Given the description of an element on the screen output the (x, y) to click on. 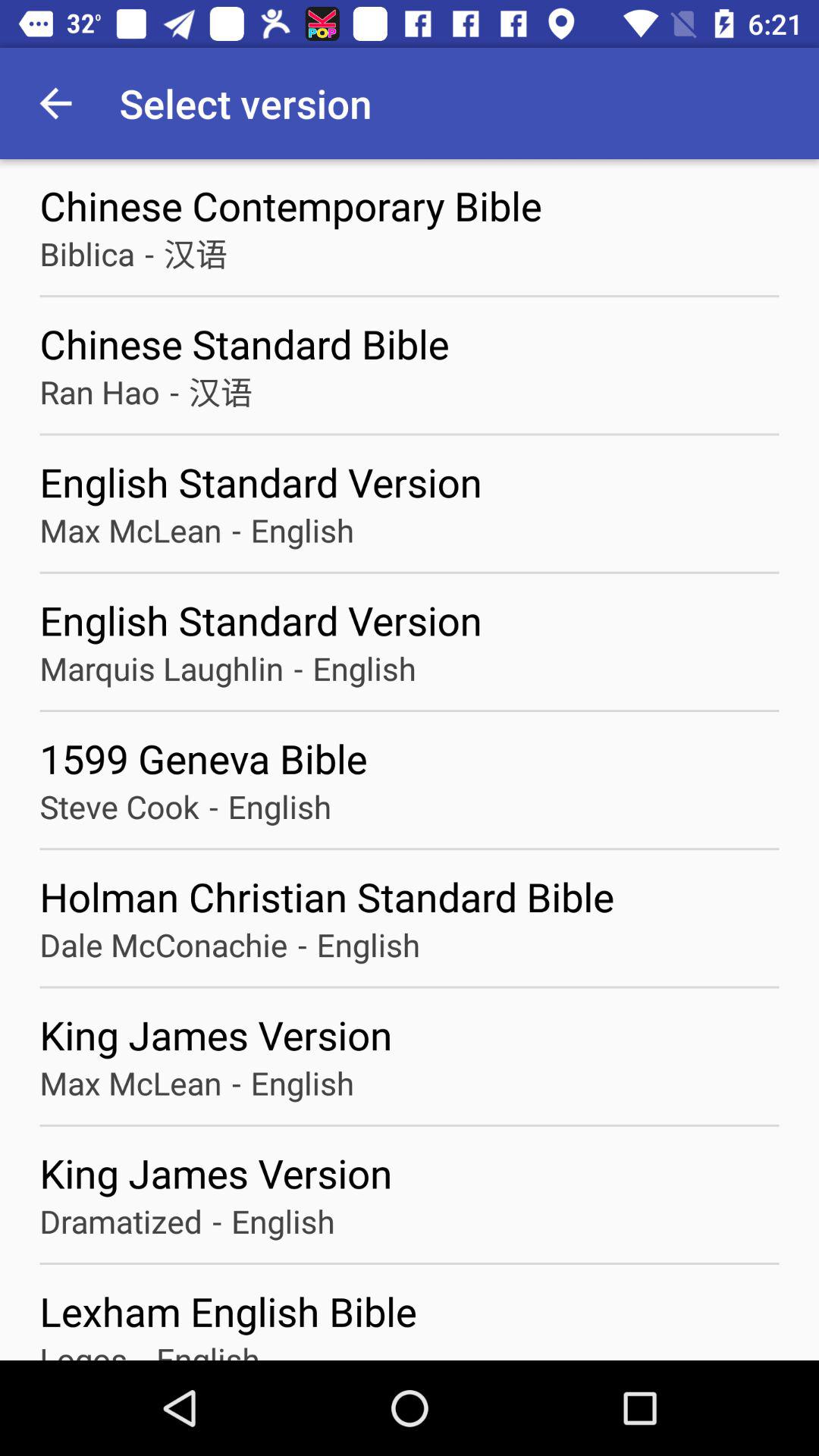
choose item below chinese standard bible item (174, 391)
